Given the description of an element on the screen output the (x, y) to click on. 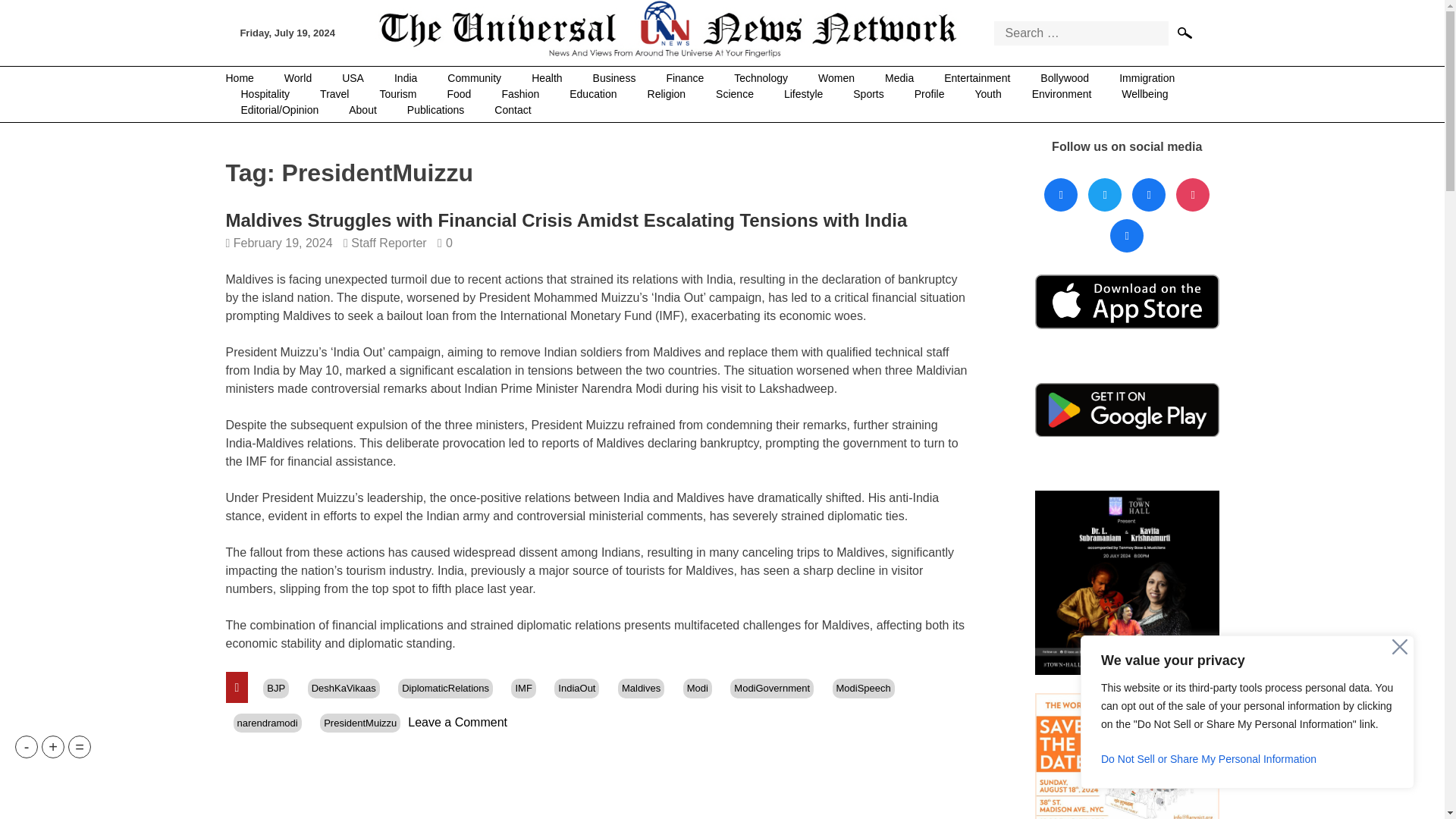
Youtube (1192, 194)
Hospitality (265, 94)
Business (614, 78)
Wellbeing (1144, 94)
World (297, 78)
Profile (929, 94)
Education (592, 94)
Religion (666, 94)
USA (352, 78)
Youth (987, 94)
About (362, 109)
Home (247, 78)
Sports (868, 94)
Twitter (1104, 194)
Science (734, 94)
